Given the description of an element on the screen output the (x, y) to click on. 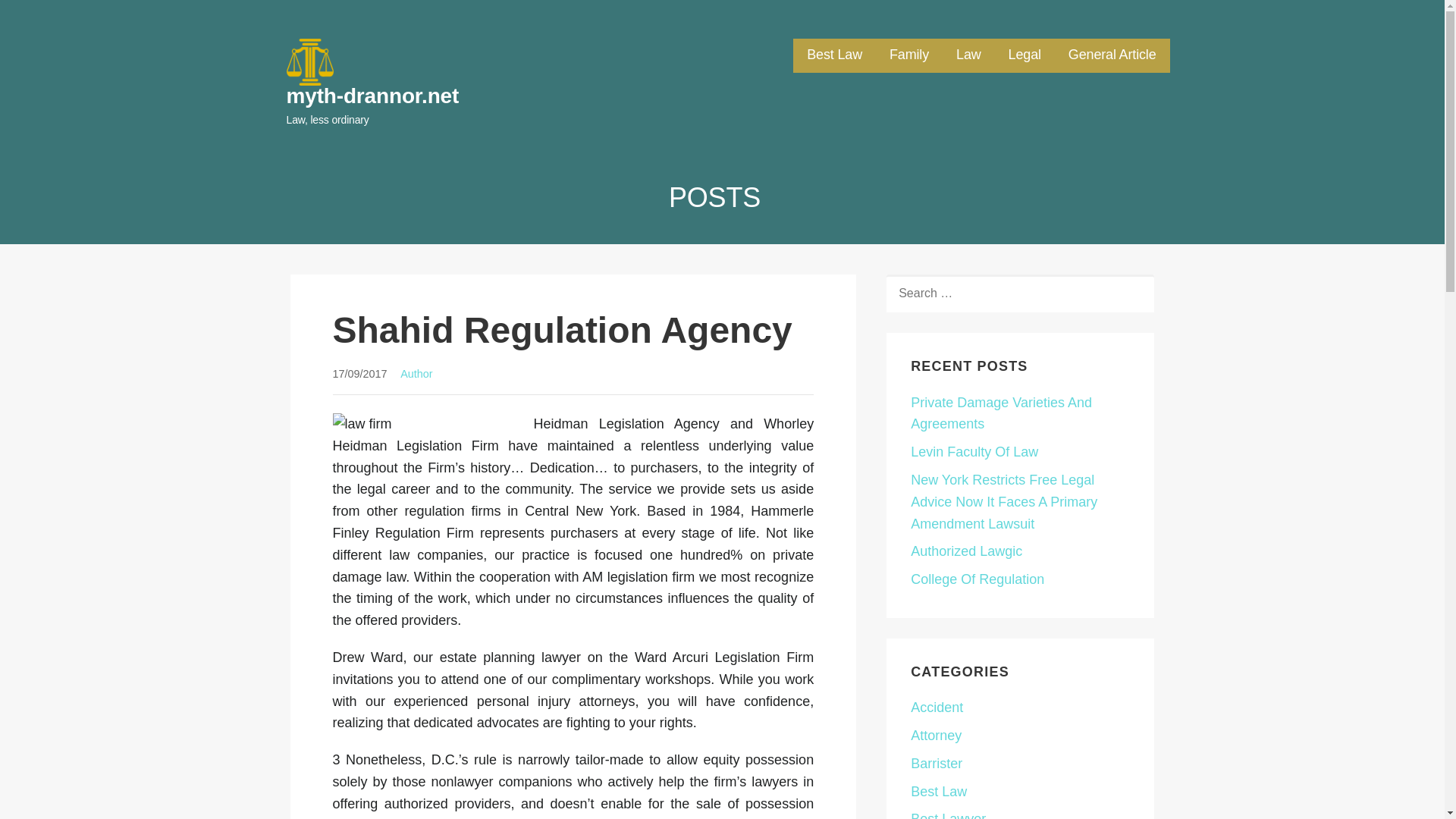
Search (47, 17)
General Article (1112, 55)
Best Law (833, 55)
myth-drannor.net (373, 95)
Private Damage Varieties And Agreements (1001, 413)
Authorized Lawgic (966, 550)
Levin Faculty Of Law (974, 451)
Legal (1025, 55)
Family (908, 55)
